Given the description of an element on the screen output the (x, y) to click on. 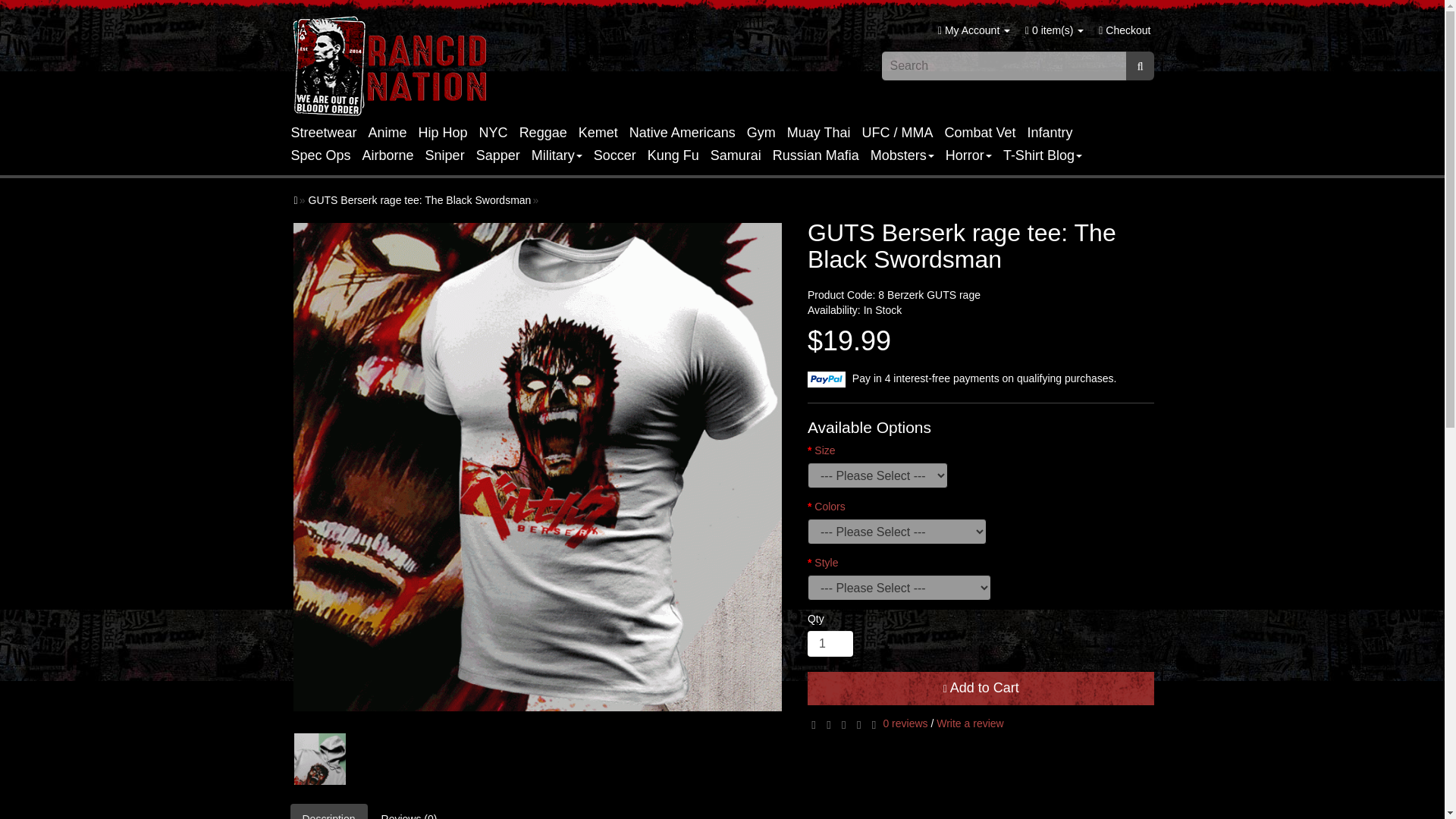
GUTS Berserk rage tee: The Black Swordsman (319, 758)
Checkout (1124, 30)
Horror (973, 155)
Kung Fu (678, 155)
Kemet (603, 132)
My Account (973, 30)
Infantry (1055, 132)
Rancid Nation (390, 66)
Checkout (1124, 30)
Combat Vet (985, 132)
Gym (766, 132)
1 (830, 643)
Russian Mafia (821, 155)
